Given the description of an element on the screen output the (x, y) to click on. 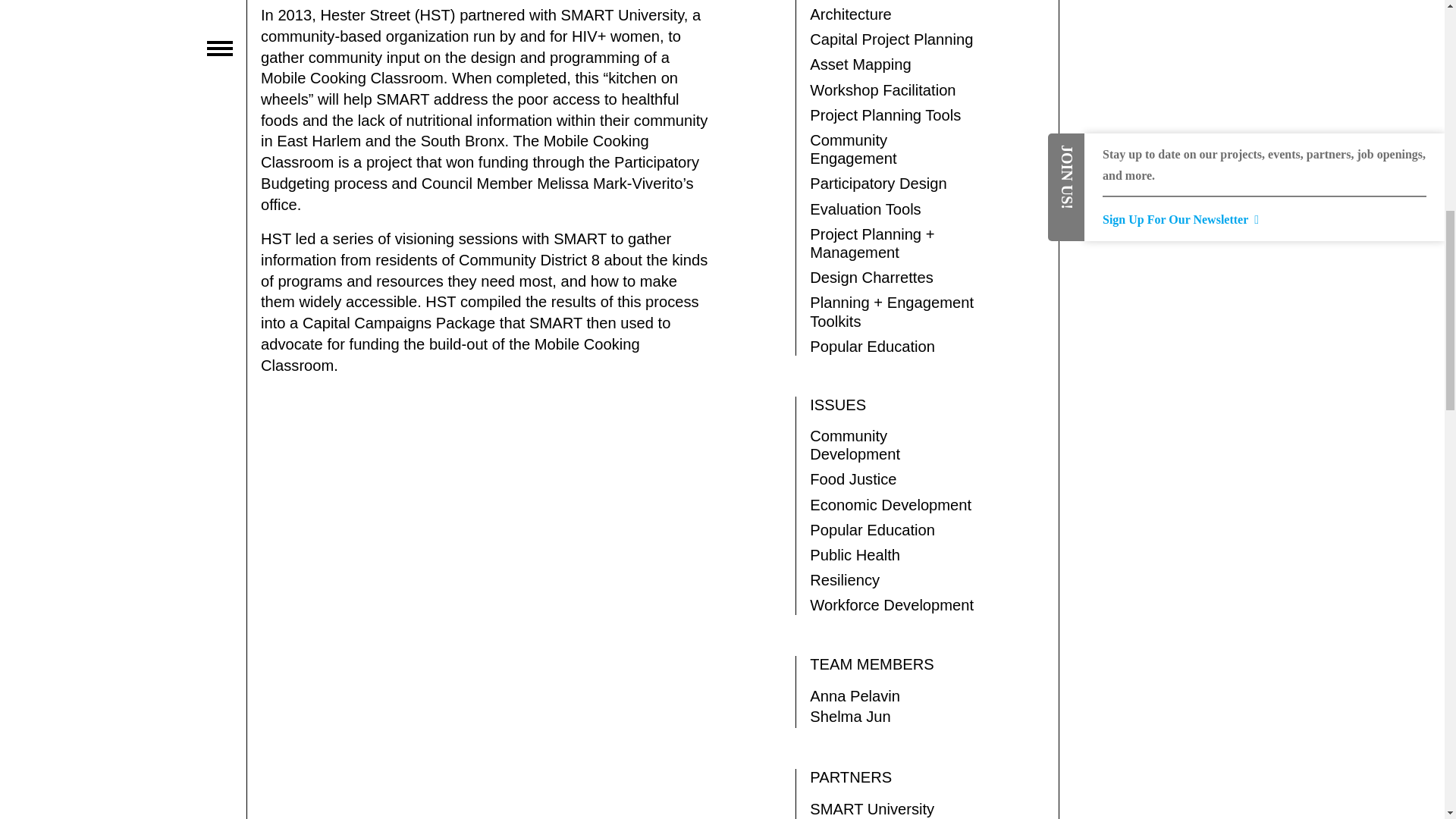
Evaluation Tools (892, 208)
Workforce Development (892, 605)
See projects tagged Capital Project Planning (892, 39)
See projects tagged Public Health (892, 555)
See projects tagged Community Development (892, 444)
Community Engagement (892, 149)
See projects tagged Popular Education (892, 529)
Popular Education (892, 346)
See projects tagged Resiliency (892, 579)
See projects tagged Design Charrettes (892, 277)
See projects tagged Workshop Facilitation (892, 90)
Capital Project Planning (892, 39)
See projects tagged Popular Education (892, 346)
Design Charrettes (892, 277)
See projects tagged Economic Development (892, 505)
